Given the description of an element on the screen output the (x, y) to click on. 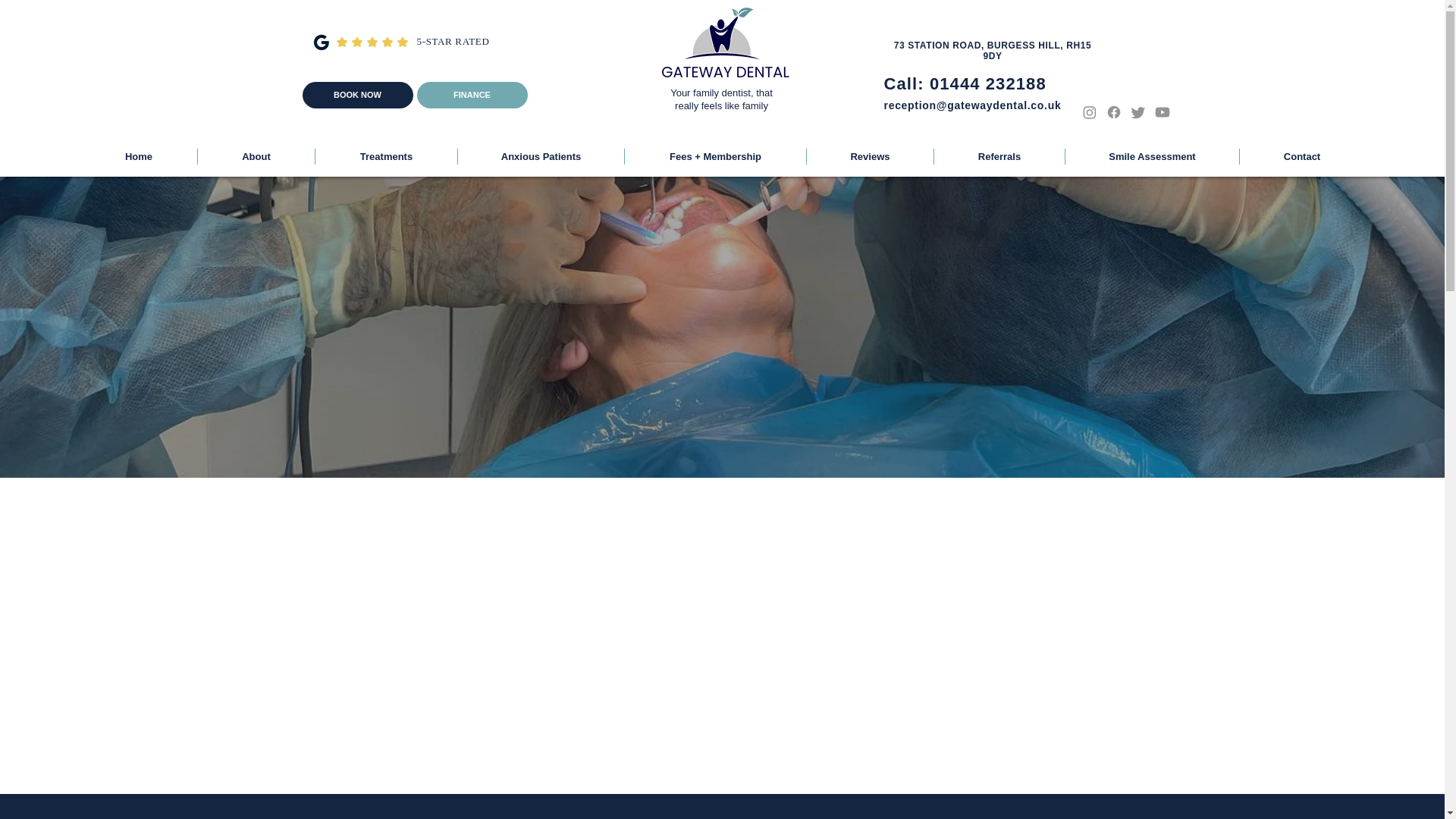
Referrals (999, 156)
Smile Assessment (1152, 156)
Contact (1302, 156)
FINANCE (471, 94)
About (256, 156)
BOOK NOW (356, 94)
Your family dentist, that really feels like family (721, 98)
Call: 01444 232188 (964, 83)
73 STATION ROAD, BURGESS HILL, RH15 9DY (992, 50)
Anxious Patients (541, 156)
Treatments (386, 156)
Reviews (869, 156)
5-STAR RATED (452, 41)
Home (138, 156)
